Given the description of an element on the screen output the (x, y) to click on. 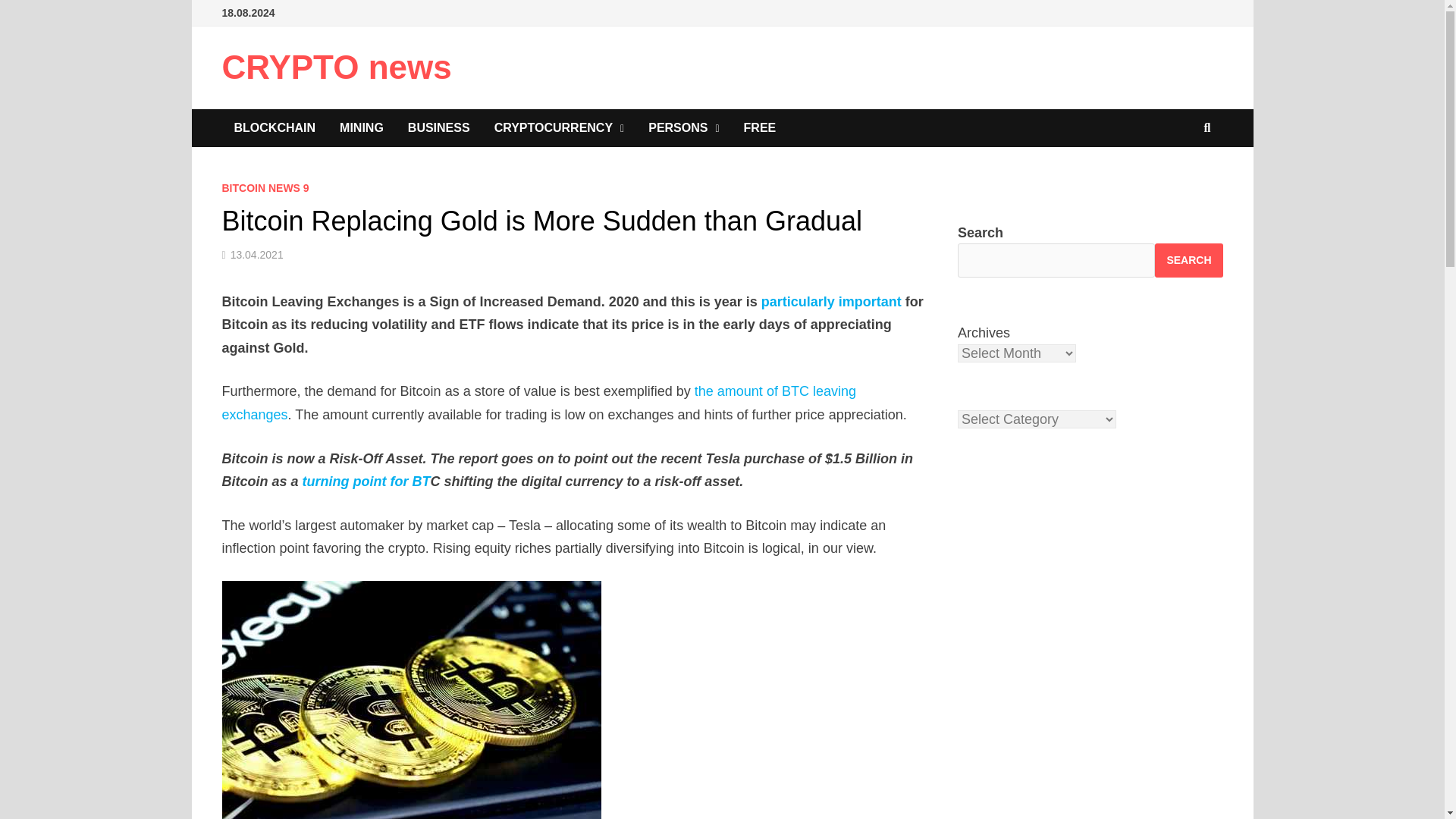
CRYPTO news (336, 66)
BUSINESS (438, 127)
PERSONS (683, 127)
BLOCKCHAIN (274, 127)
FREE (760, 127)
MINING (361, 127)
CRYPTOCURRENCY (559, 127)
